Given the description of an element on the screen output the (x, y) to click on. 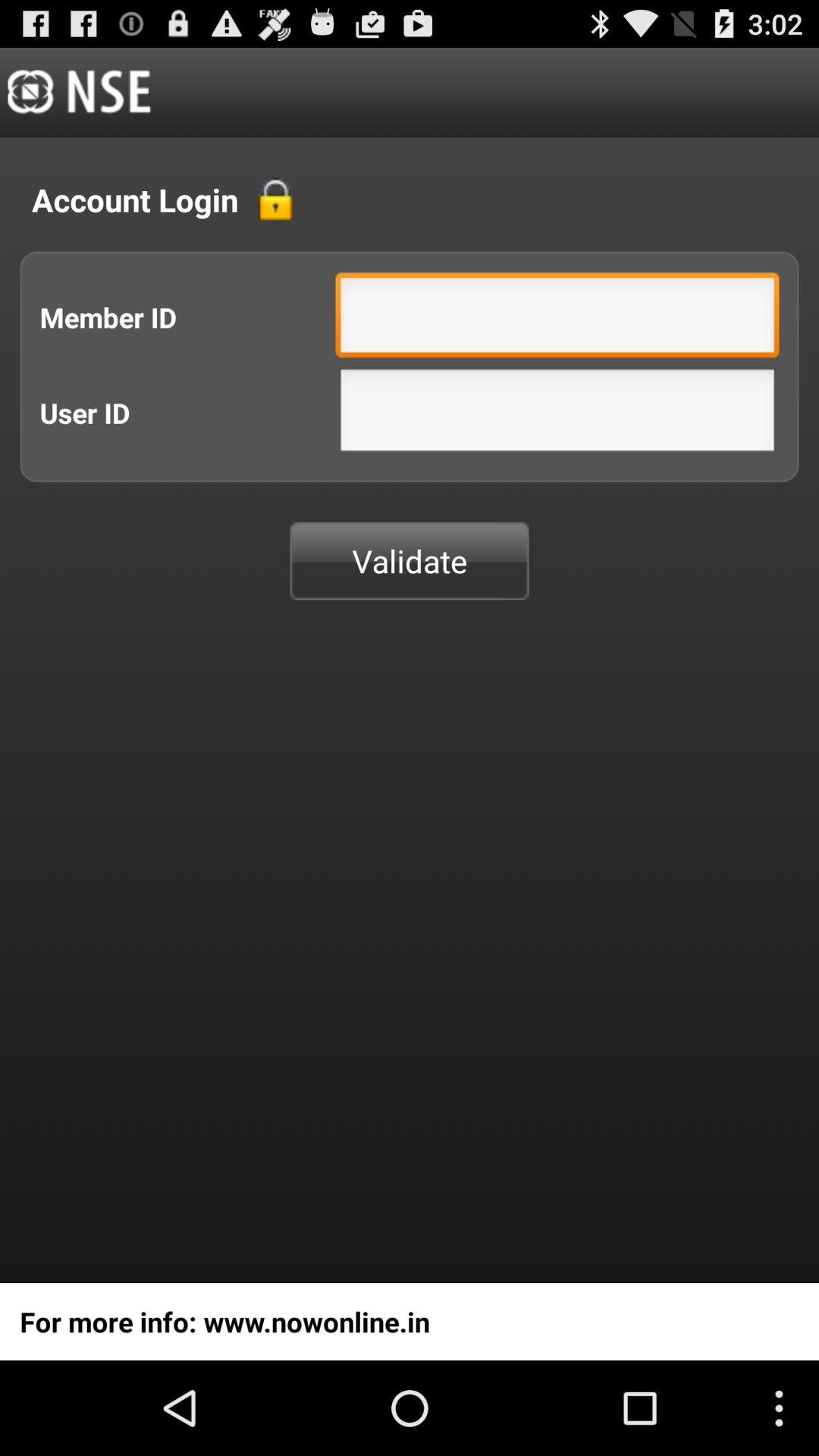
enter member id in input box (557, 318)
